Given the description of an element on the screen output the (x, y) to click on. 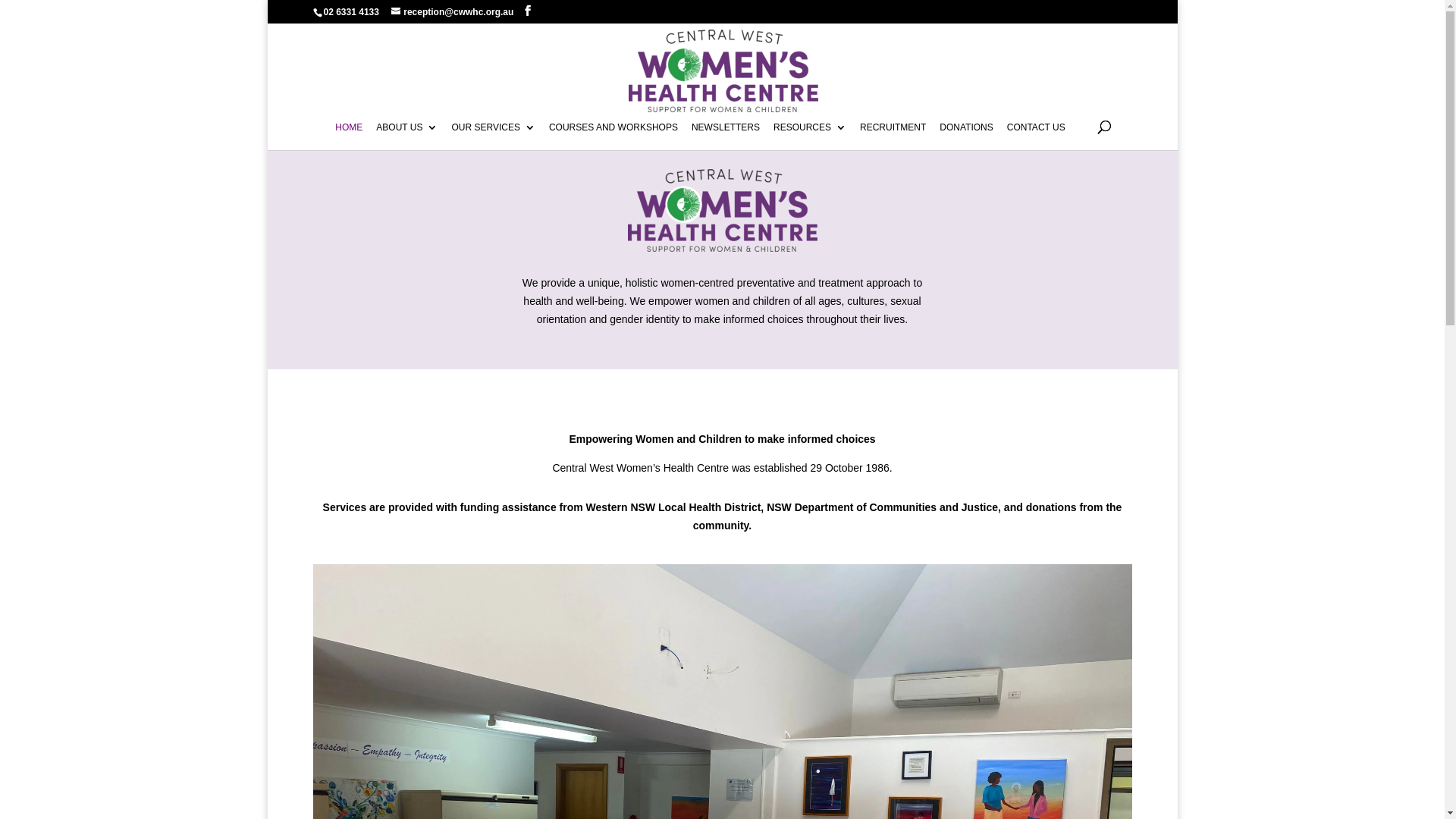
OUR SERVICES Element type: text (492, 136)
RESOURCES Element type: text (809, 136)
ABOUT US Element type: text (406, 136)
NEWSLETTERS Element type: text (725, 136)
reception@cwwhc.org.au Element type: text (452, 11)
DONATIONS Element type: text (965, 136)
HOME Element type: text (348, 136)
COURSES AND WORKSHOPS Element type: text (613, 136)
CONTACT US Element type: text (1036, 136)
RECRUITMENT Element type: text (892, 136)
